Given the description of an element on the screen output the (x, y) to click on. 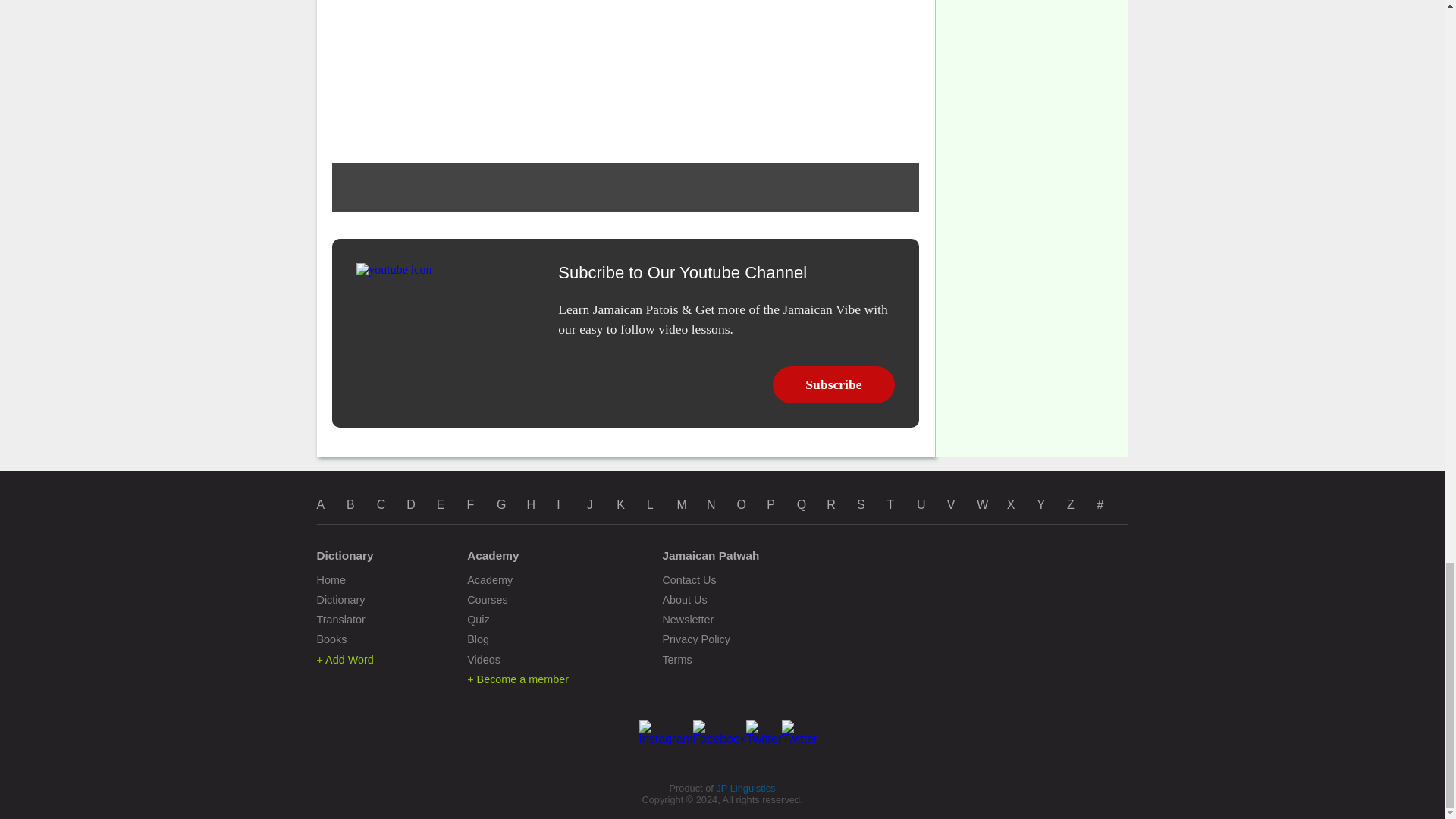
Advertisement (624, 74)
Find us on Facebook (719, 738)
Subcribe on Youtube (798, 738)
Follow us on Instagram (666, 738)
Subscribe (834, 384)
Follow us on Pinterest (763, 738)
